Given the description of an element on the screen output the (x, y) to click on. 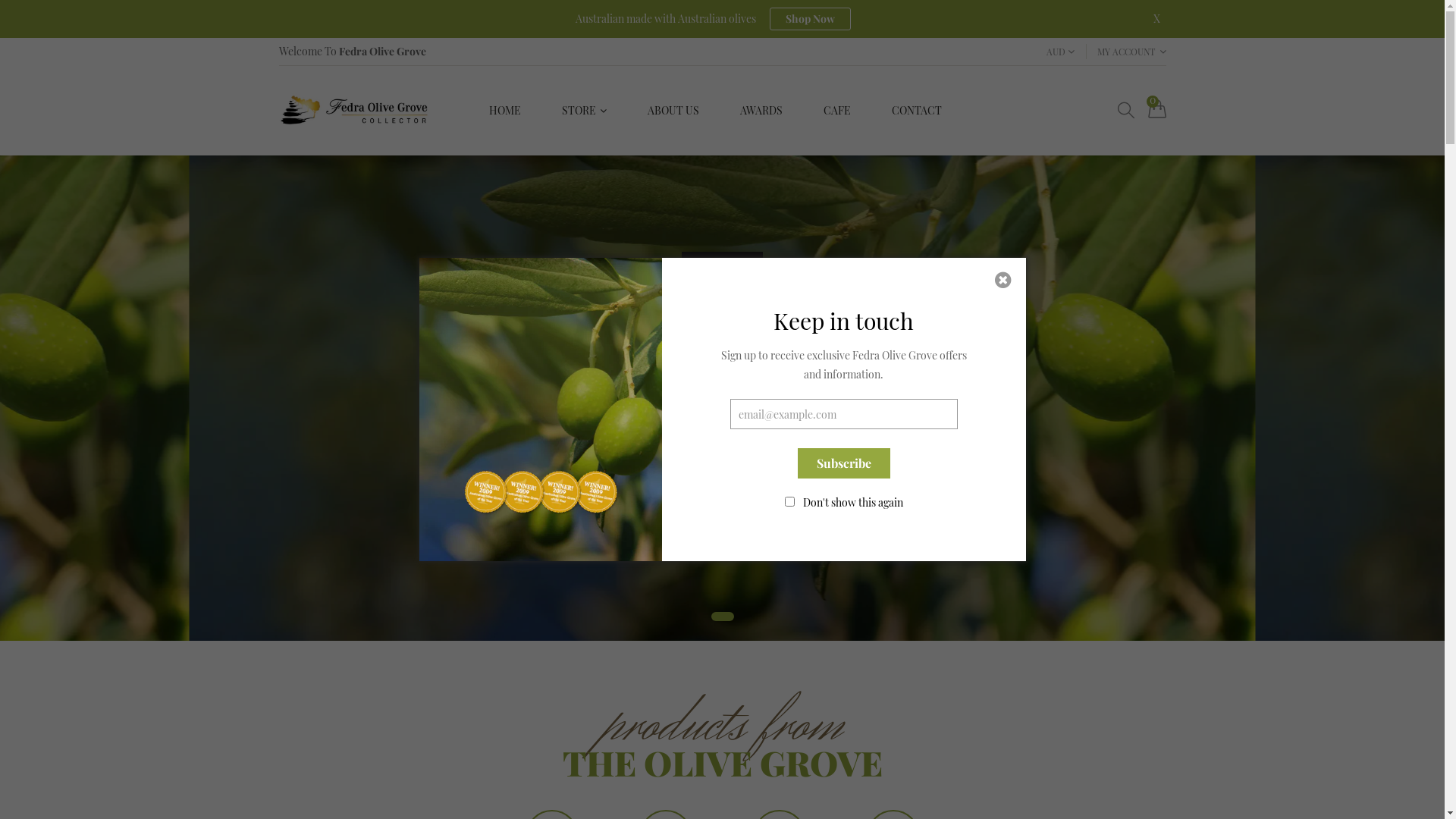
1 Element type: text (722, 616)
CONTACT Element type: text (915, 110)
Shipping And Returns Element type: text (662, 153)
STORE Element type: text (584, 110)
MY ACCOUNT Element type: text (1130, 51)
ABOUT US Element type: text (672, 110)
Olives Element type: text (662, 154)
CAFE Element type: text (836, 110)
X Element type: text (1155, 18)
AUD Element type: text (1060, 51)
AWARDS Element type: text (760, 110)
HOME Element type: text (504, 110)
Shop Now Element type: text (809, 18)
Subscribe Element type: text (843, 463)
0 Element type: text (1157, 109)
